Given the description of an element on the screen output the (x, y) to click on. 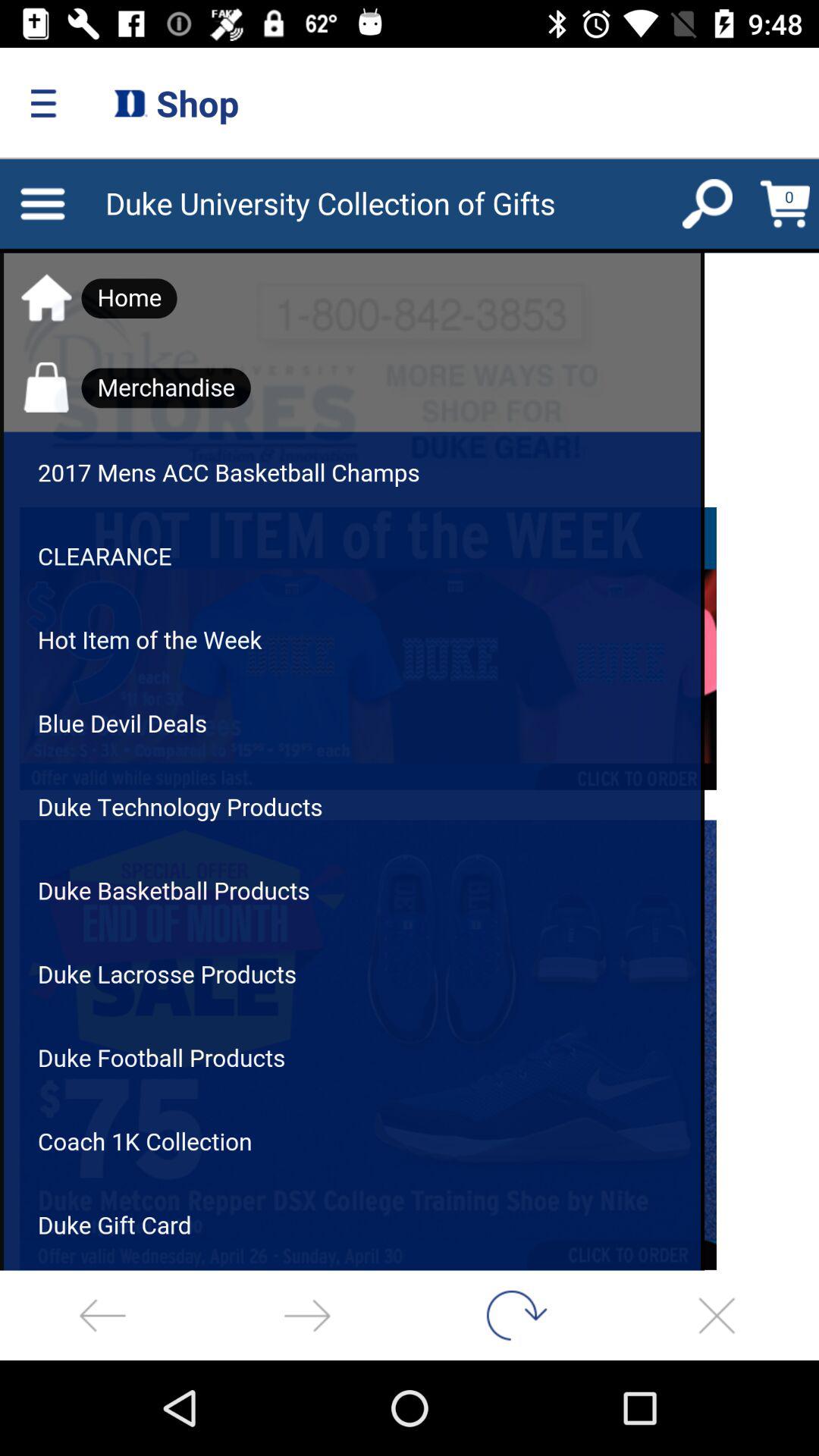
reload the page (511, 1315)
